Given the description of an element on the screen output the (x, y) to click on. 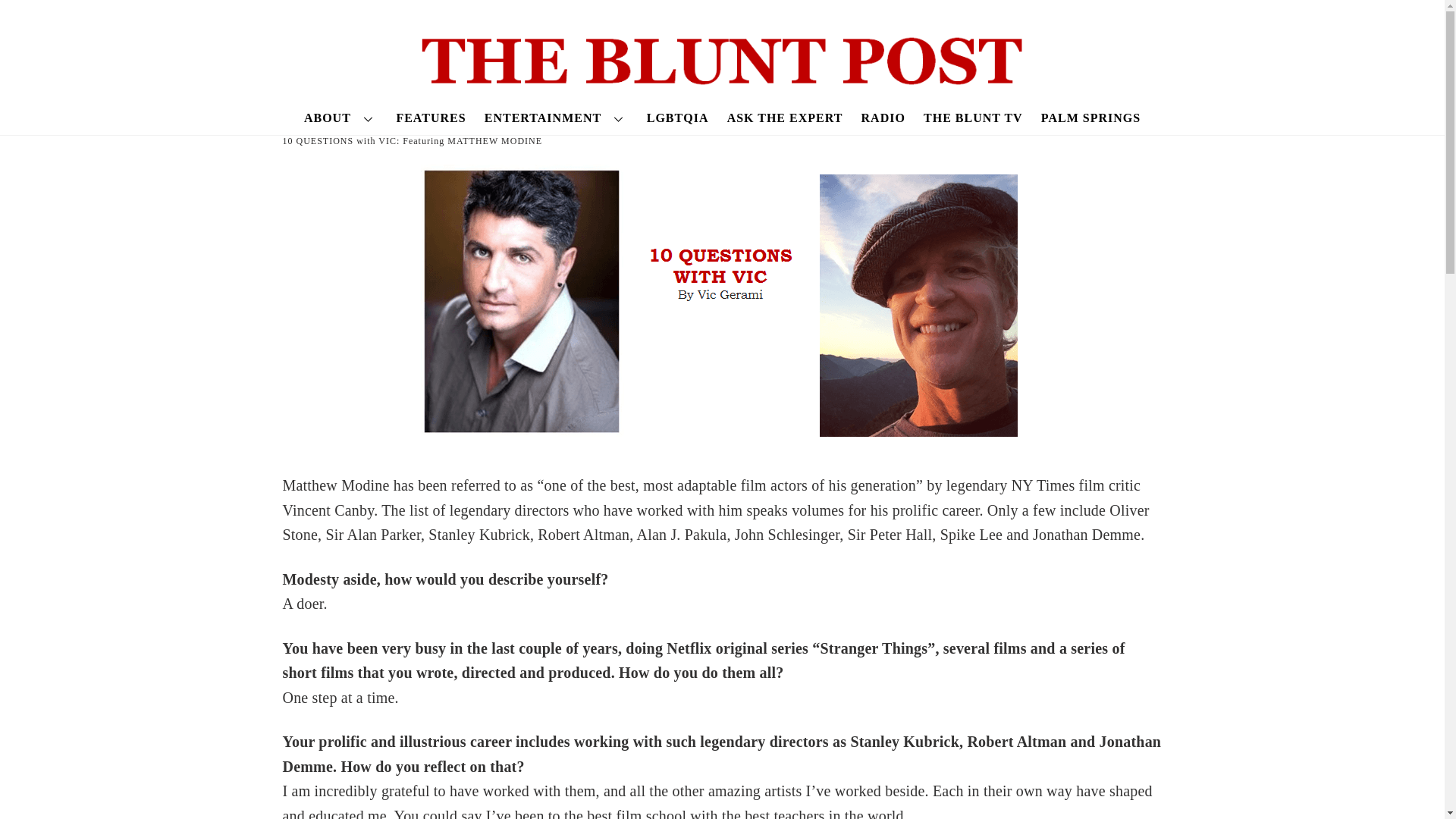
THE BLUNT POST (722, 78)
Page 1 (721, 774)
ENTERTAINMENT (555, 118)
10 QUESTIONS with VIC: Featuring MATTHEW MODINE (411, 140)
RADIO (882, 118)
ASK THE EXPERT (784, 118)
LGBTQIA (677, 118)
Page 1 (721, 591)
Page 1 (721, 673)
PALM SPRINGS (1090, 118)
ABOUT (341, 118)
THE BLUNT TV (972, 118)
Page 1 (721, 510)
FEATURES (430, 118)
